Given the description of an element on the screen output the (x, y) to click on. 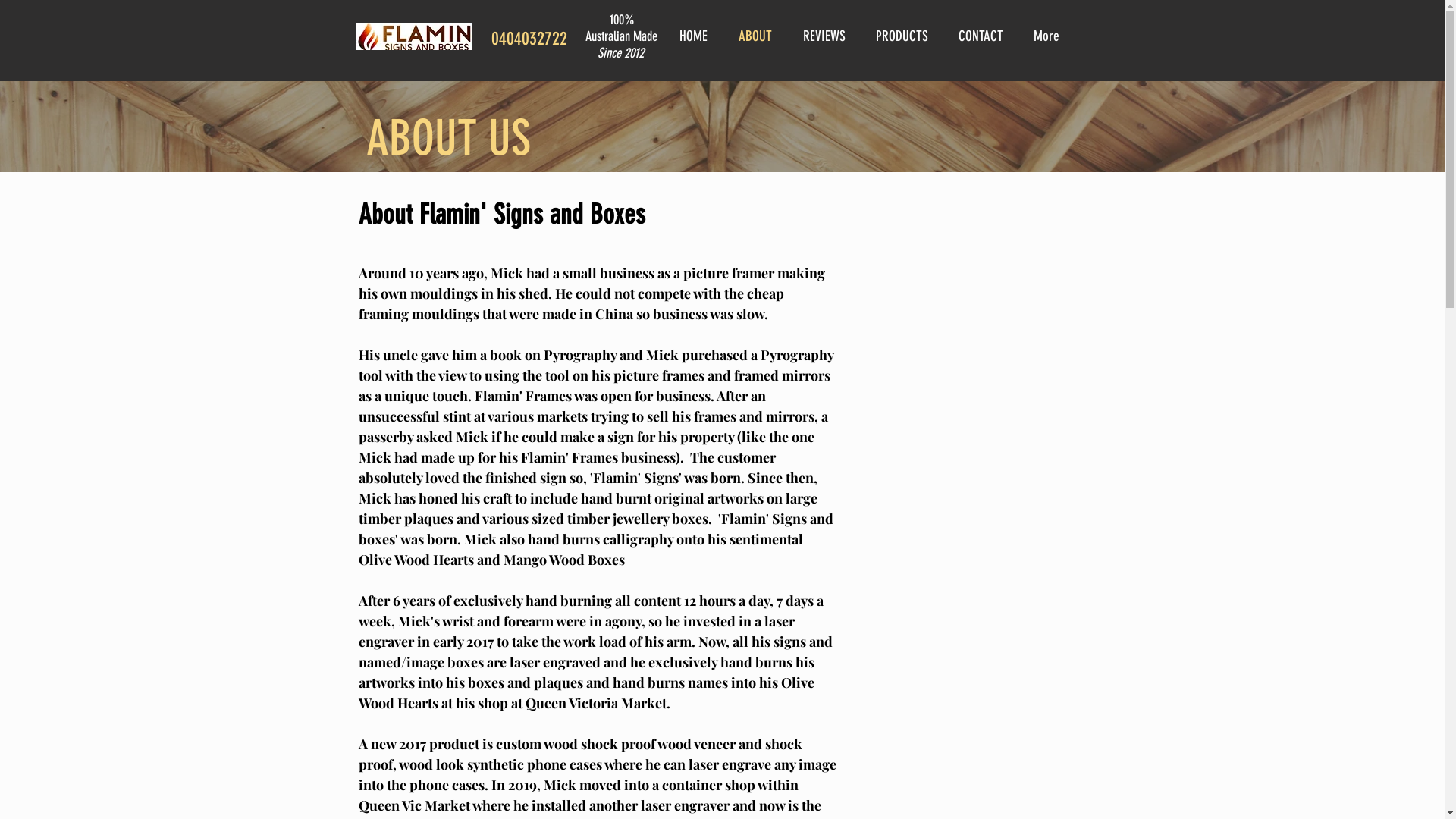
PRODUCTS Element type: text (905, 35)
ABOUT Element type: text (758, 35)
REVIEWS Element type: text (827, 35)
HOME Element type: text (696, 35)
CONTACT Element type: text (983, 35)
